Given the description of an element on the screen output the (x, y) to click on. 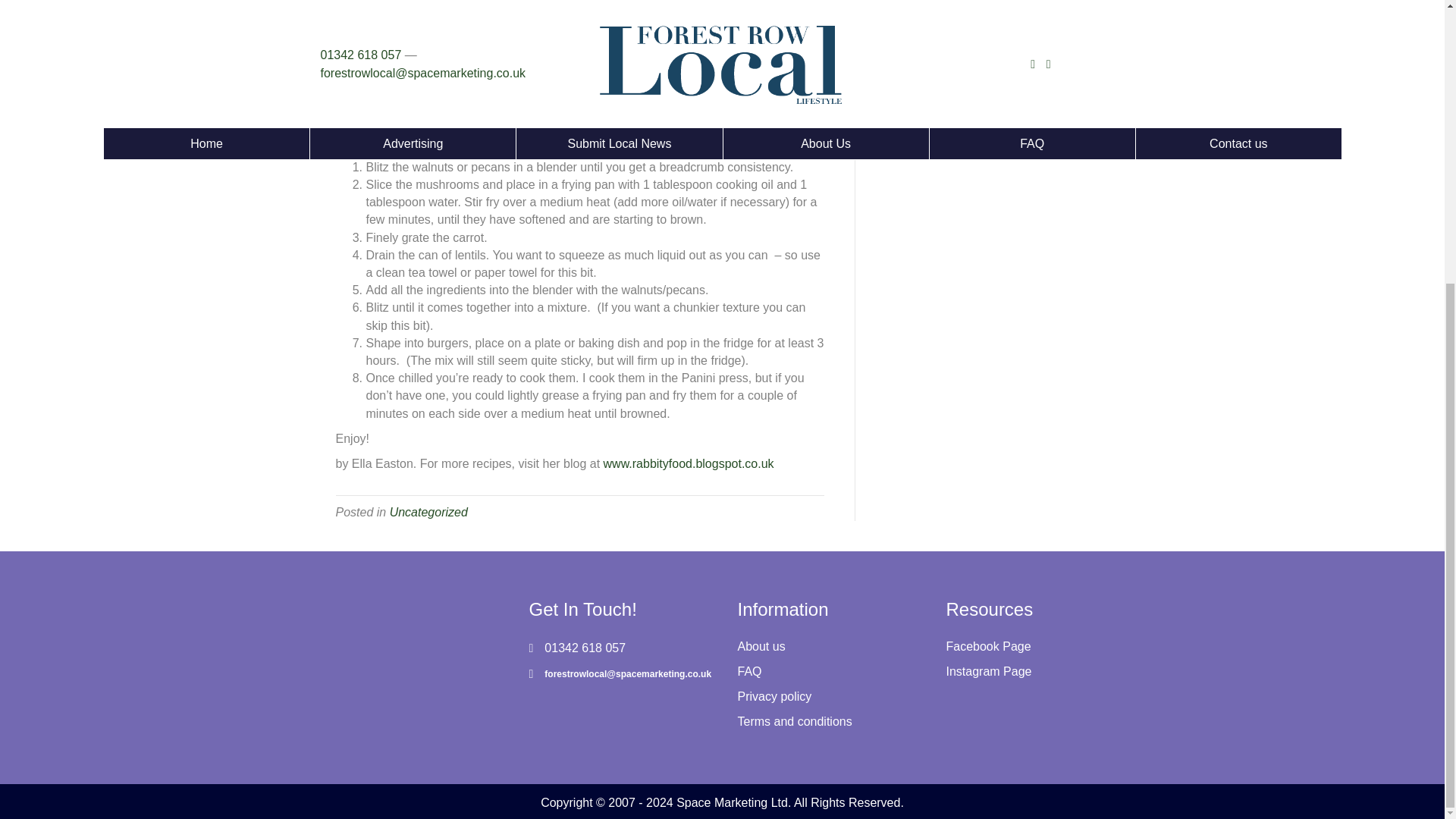
Terms and conditions (793, 721)
Uncategorized (428, 512)
About us (760, 645)
01342 618 057 (585, 647)
FAQ (748, 671)
www.rabbityfood.blogspot.co.uk (689, 463)
Instagram Page (989, 671)
Facebook Page (988, 645)
Privacy policy (773, 696)
